Given the description of an element on the screen output the (x, y) to click on. 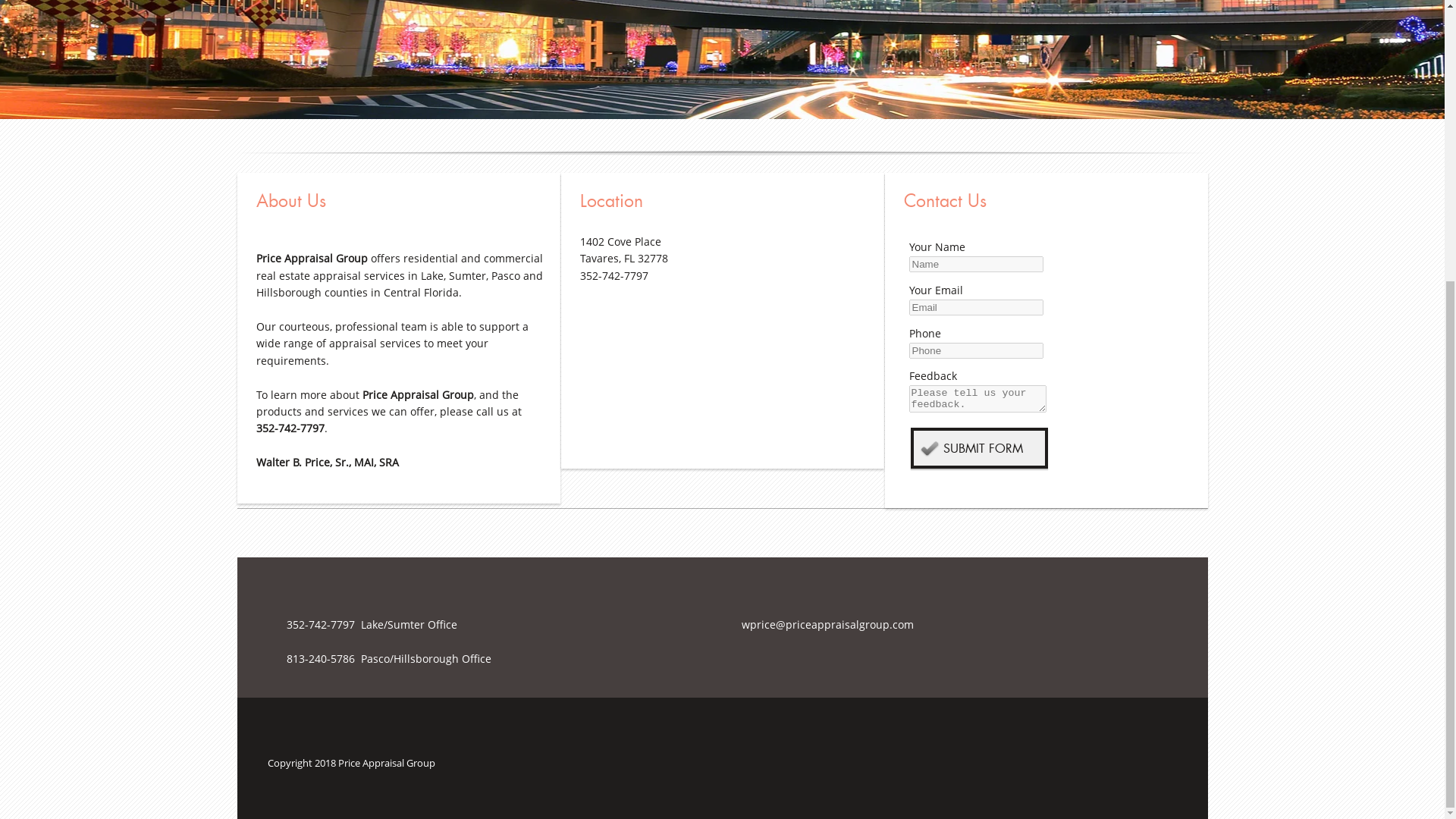
About Us (400, 196)
Contact Us (1048, 196)
SUBMIT FORM (978, 447)
Location (723, 196)
